Given the description of an element on the screen output the (x, y) to click on. 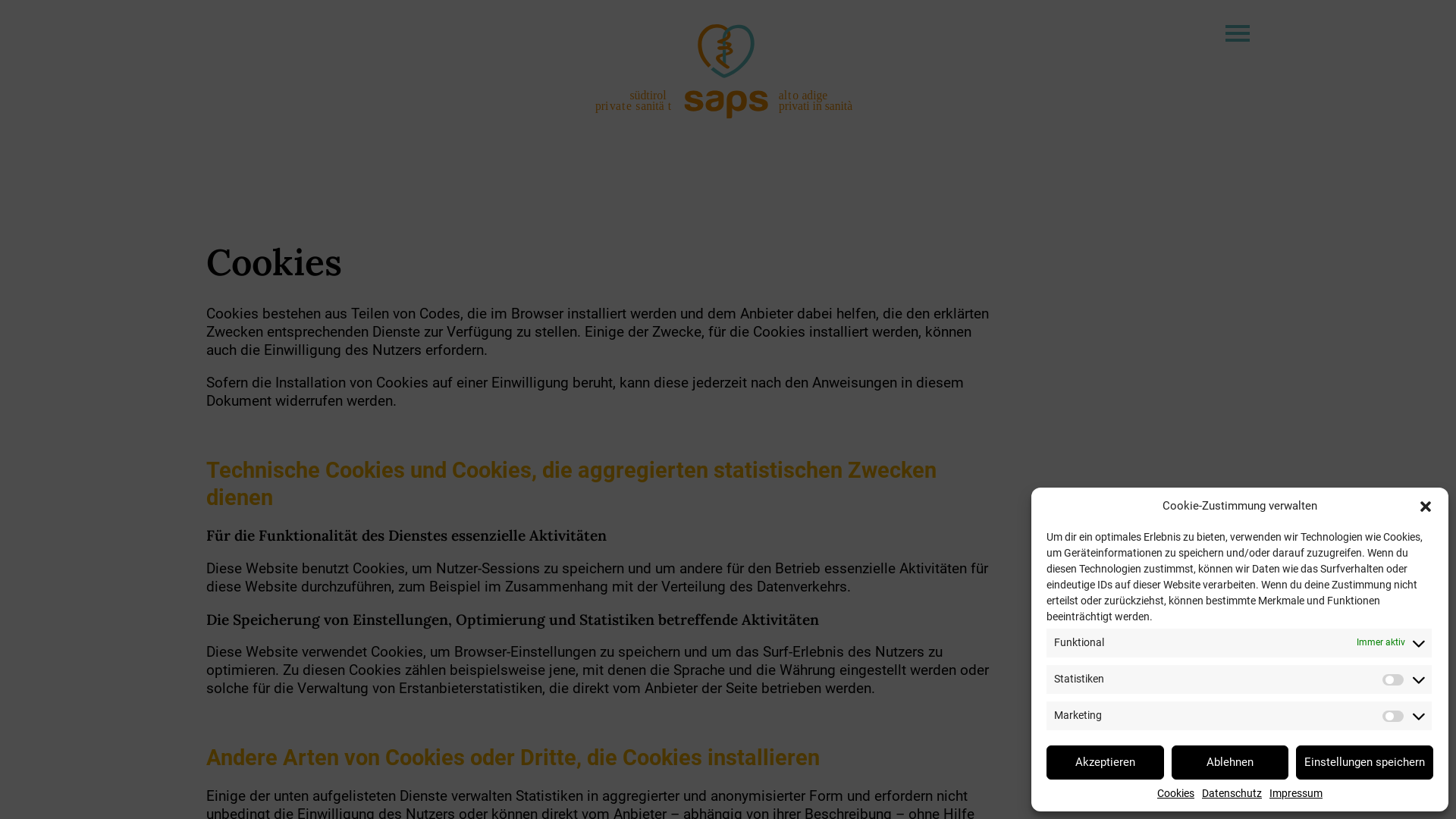
Datenschutz Element type: text (1231, 793)
Impressum Element type: text (1295, 793)
Ablehnen Element type: text (1229, 761)
Einstellungen speichern Element type: text (1364, 761)
Akzeptieren Element type: text (1105, 761)
Cookies Element type: text (1175, 793)
